Given the description of an element on the screen output the (x, y) to click on. 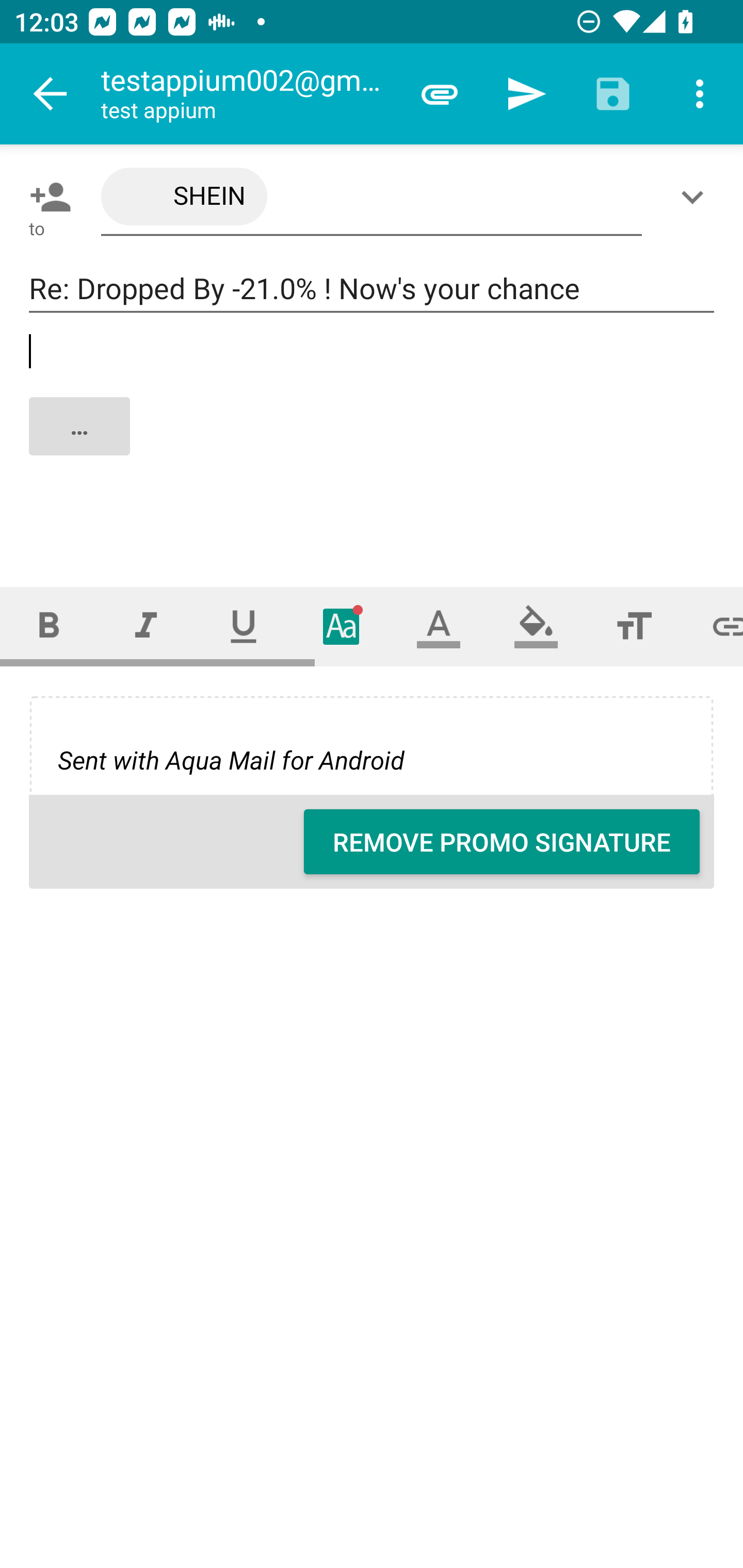
Navigate up (50, 93)
testappium002@gmail.com test appium (248, 93)
Attach (439, 93)
Send (525, 93)
Save (612, 93)
More options (699, 93)
SHEIN <info@news.us.shein.com>,  (371, 197)
Pick contact: To (46, 196)
Show/Add CC/BCC (696, 196)
Re: Dropped By -21.0% ! Now's your chance (371, 288)

…
 (372, 442)
Bold (48, 626)
Italic (145, 626)
Underline (243, 626)
Typeface (font) (341, 626)
Text color (438, 626)
Fill color (536, 626)
Font size (633, 626)
Set link (712, 626)
REMOVE PROMO SIGNATURE (501, 841)
